Given the description of an element on the screen output the (x, y) to click on. 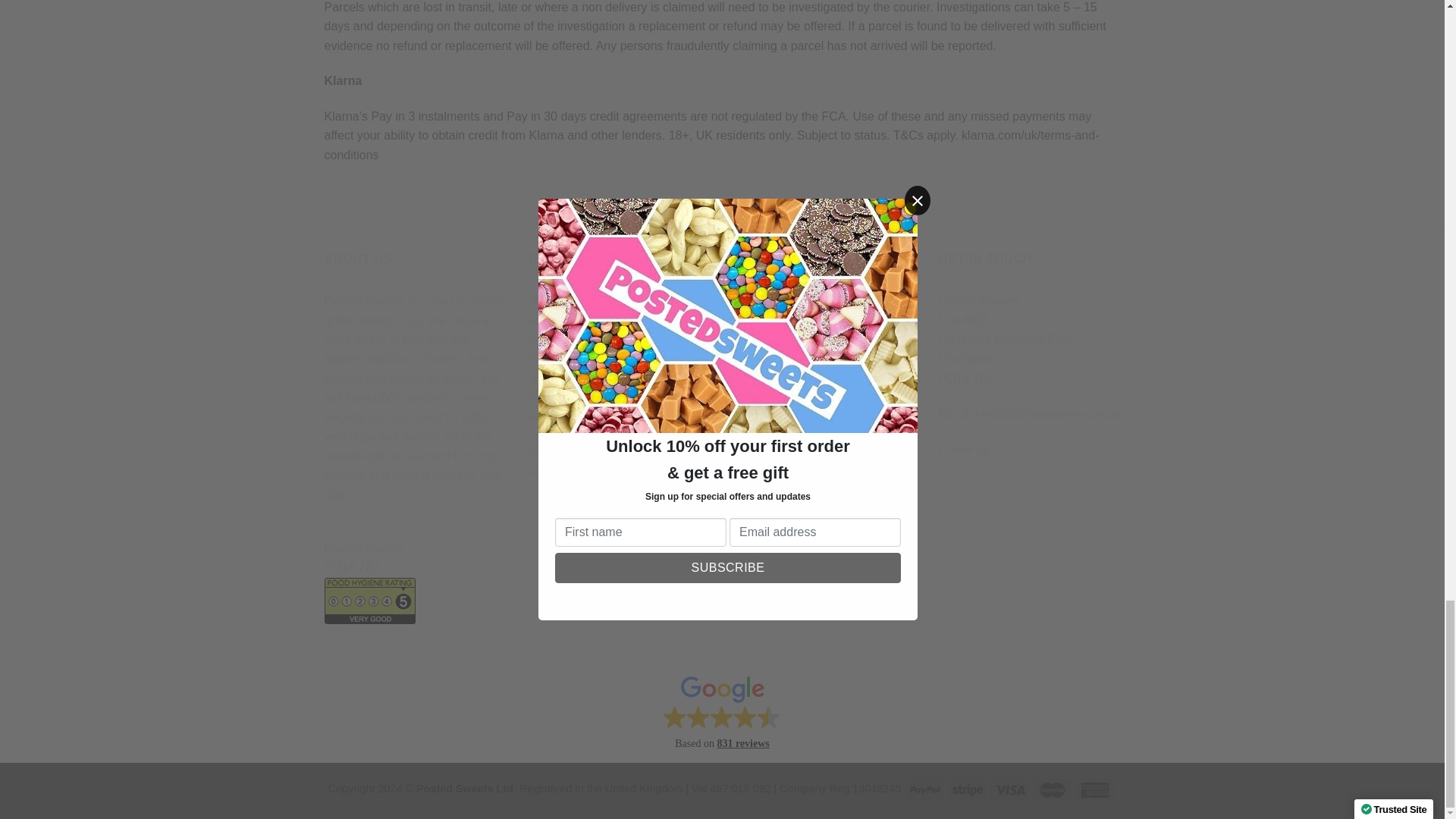
Follow on Facebook (951, 487)
Posted Sweets (415, 548)
Follow on Instagram (978, 487)
